Given the description of an element on the screen output the (x, y) to click on. 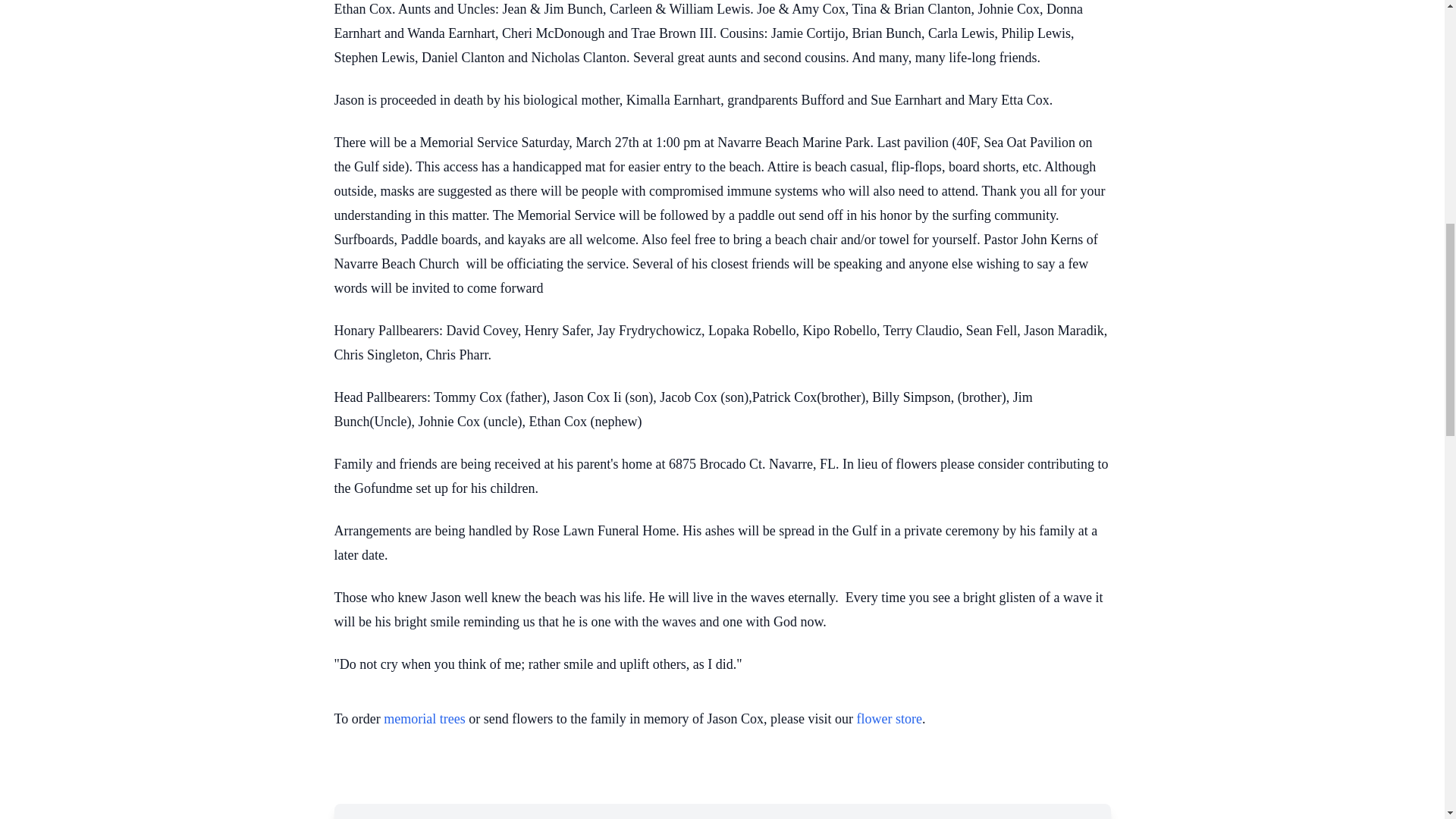
flower store (889, 718)
memorial trees (424, 718)
